Given the description of an element on the screen output the (x, y) to click on. 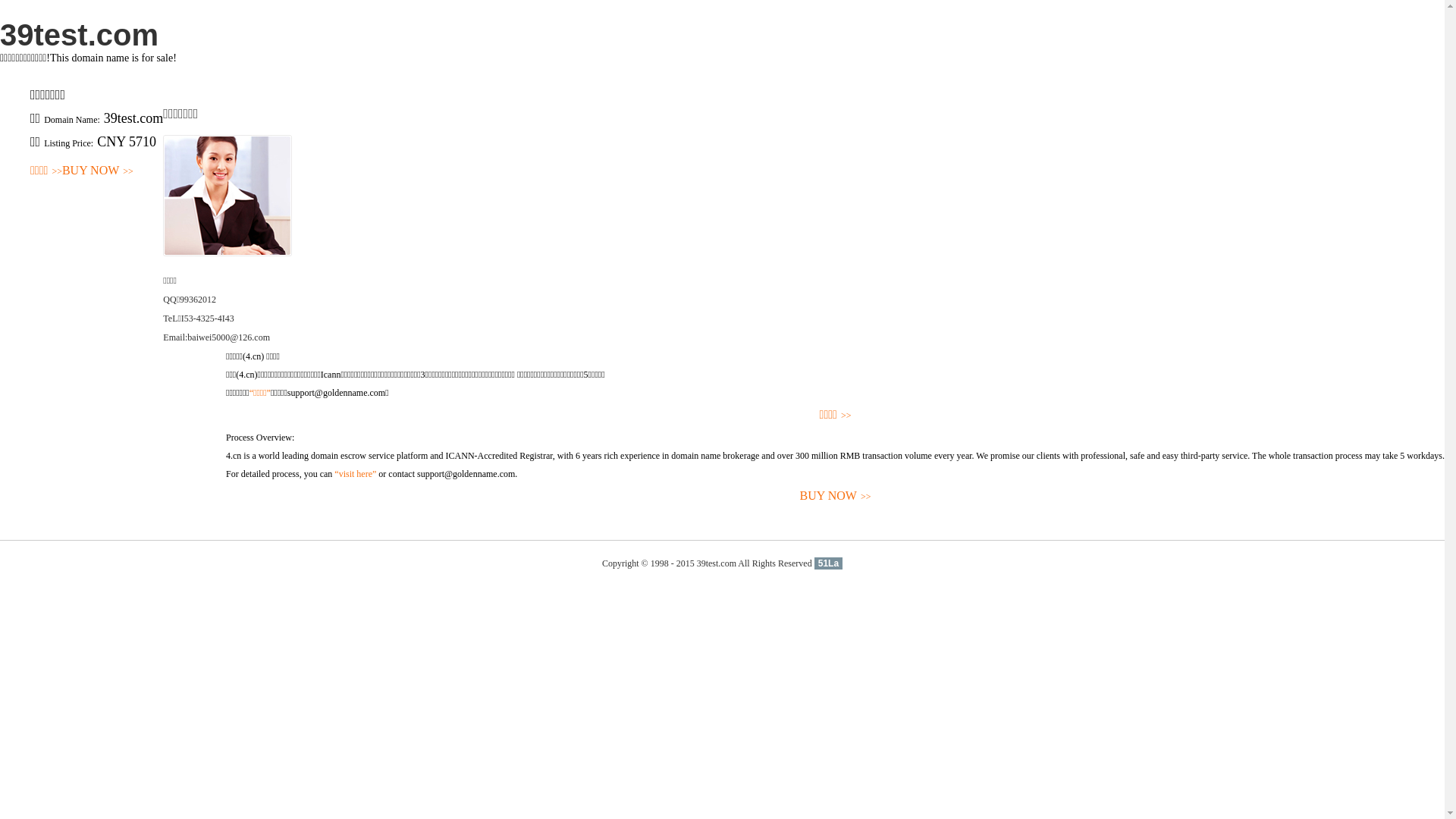
BUY NOW>> Element type: text (834, 496)
51La Element type: text (828, 563)
BUY NOW>> Element type: text (97, 170)
